Given the description of an element on the screen output the (x, y) to click on. 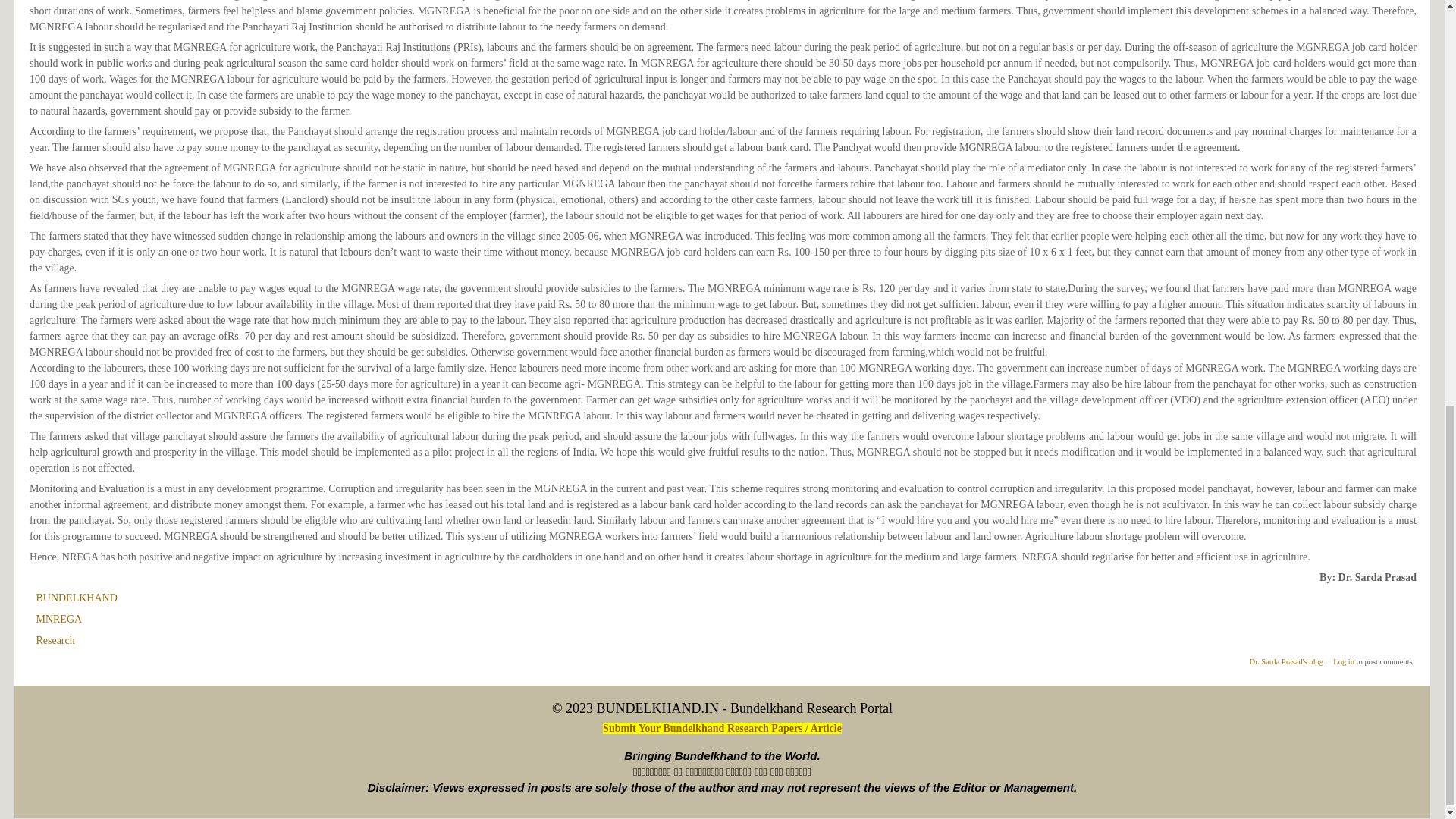
Dr. Sarda Prasad's blog (1286, 661)
Log in (1343, 661)
BUNDELKHAND (75, 597)
Read Dr. Sarda Prasad's latest blog entries. (1286, 661)
Research (54, 640)
MNREGA (57, 618)
